Given the description of an element on the screen output the (x, y) to click on. 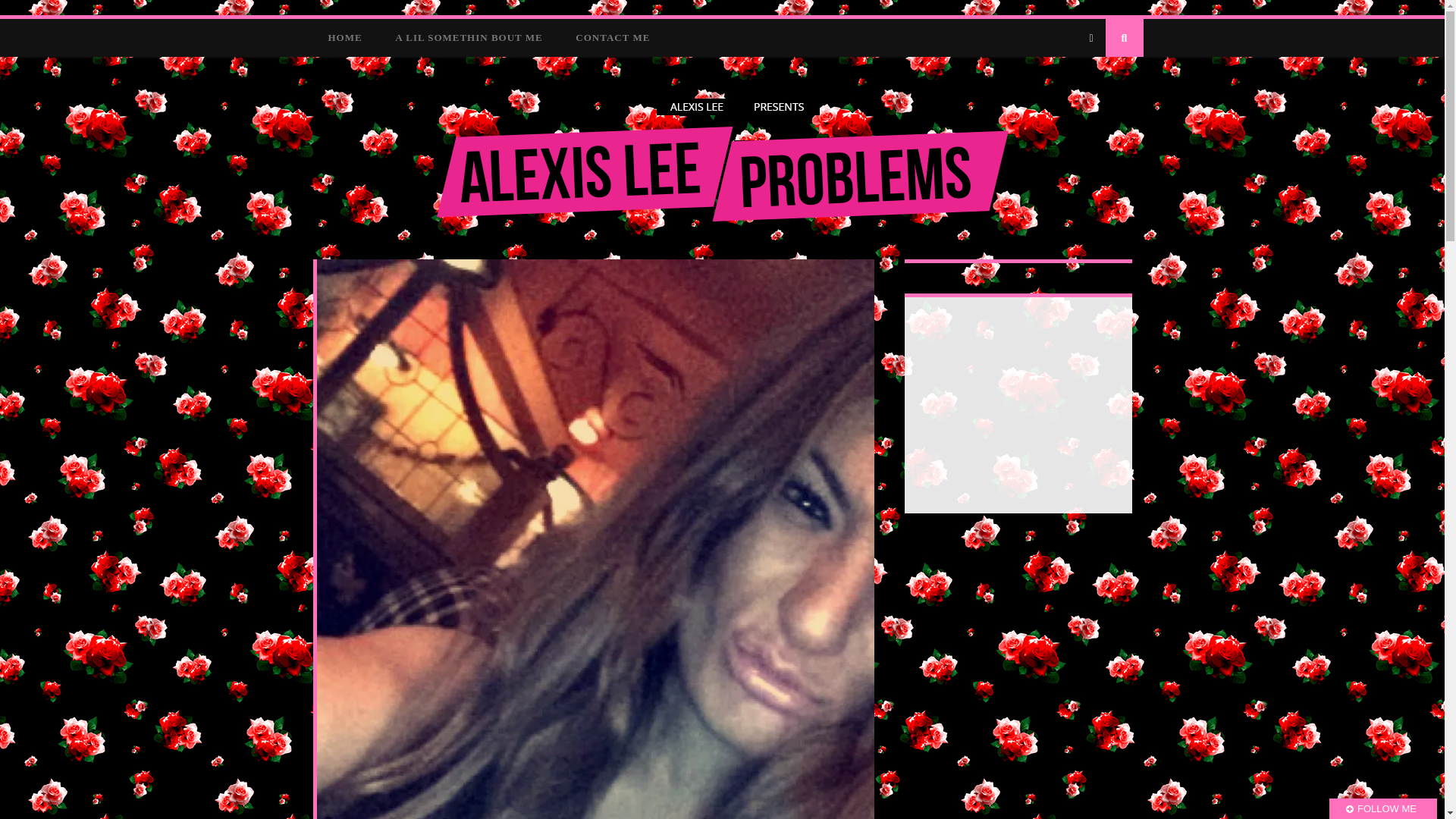
A LIL SOMETHIN BOUT ME (468, 37)
FOLLOW ME (1383, 808)
CONTACT ME (612, 37)
Advertisement (1031, 403)
HOME (345, 37)
